Given the description of an element on the screen output the (x, y) to click on. 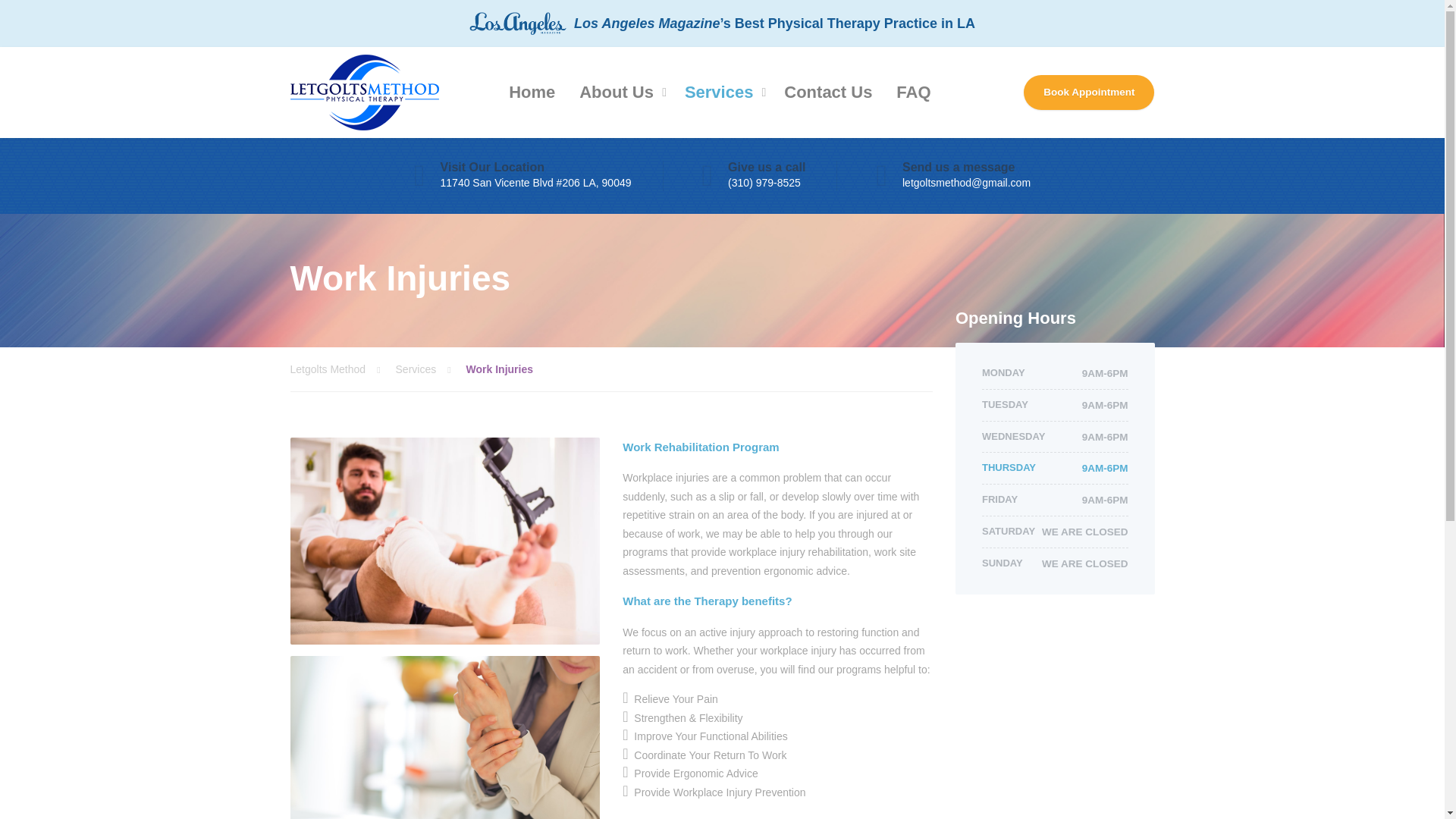
Letgolts Method (363, 92)
Services (722, 92)
About Us (620, 92)
Go to Services. (430, 369)
Book Appointment (1088, 92)
Services (430, 369)
Go to Letgolts Method. (341, 369)
Letgolts Method (341, 369)
FAQ (912, 92)
Home (531, 92)
Contact Us (827, 92)
